Given the description of an element on the screen output the (x, y) to click on. 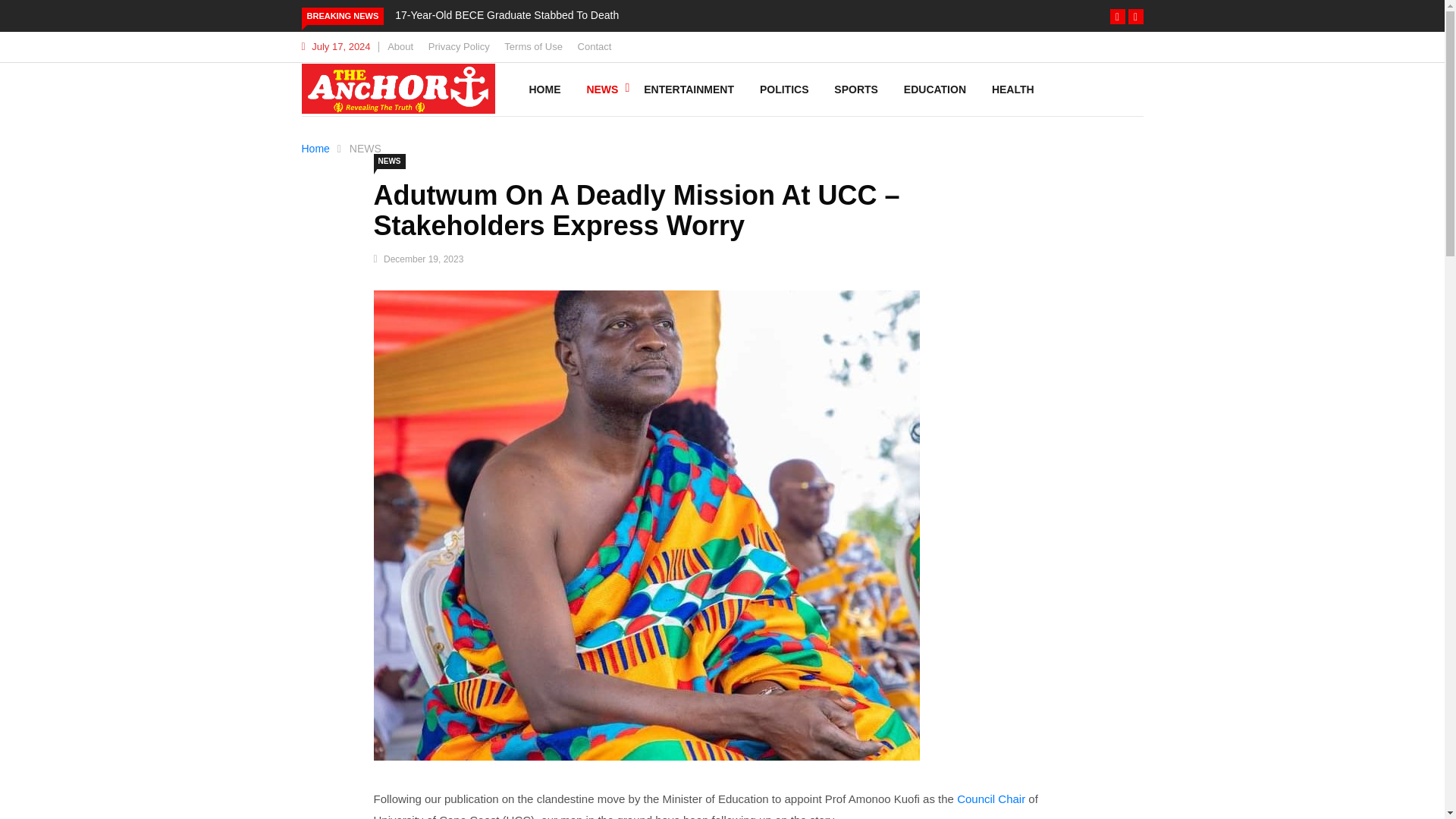
NEWS (365, 148)
Home (315, 148)
Privacy Policy (458, 46)
POLITICS (784, 89)
NEWS (388, 160)
Terms of Use (532, 46)
HEALTH (1012, 89)
HOME (544, 89)
EDUCATION (934, 89)
Council Chair (990, 798)
NEWS (601, 89)
SPORTS (855, 89)
About (400, 46)
17-Year-Old BECE Graduate Stabbed To Death (506, 15)
logo (398, 88)
